Given the description of an element on the screen output the (x, y) to click on. 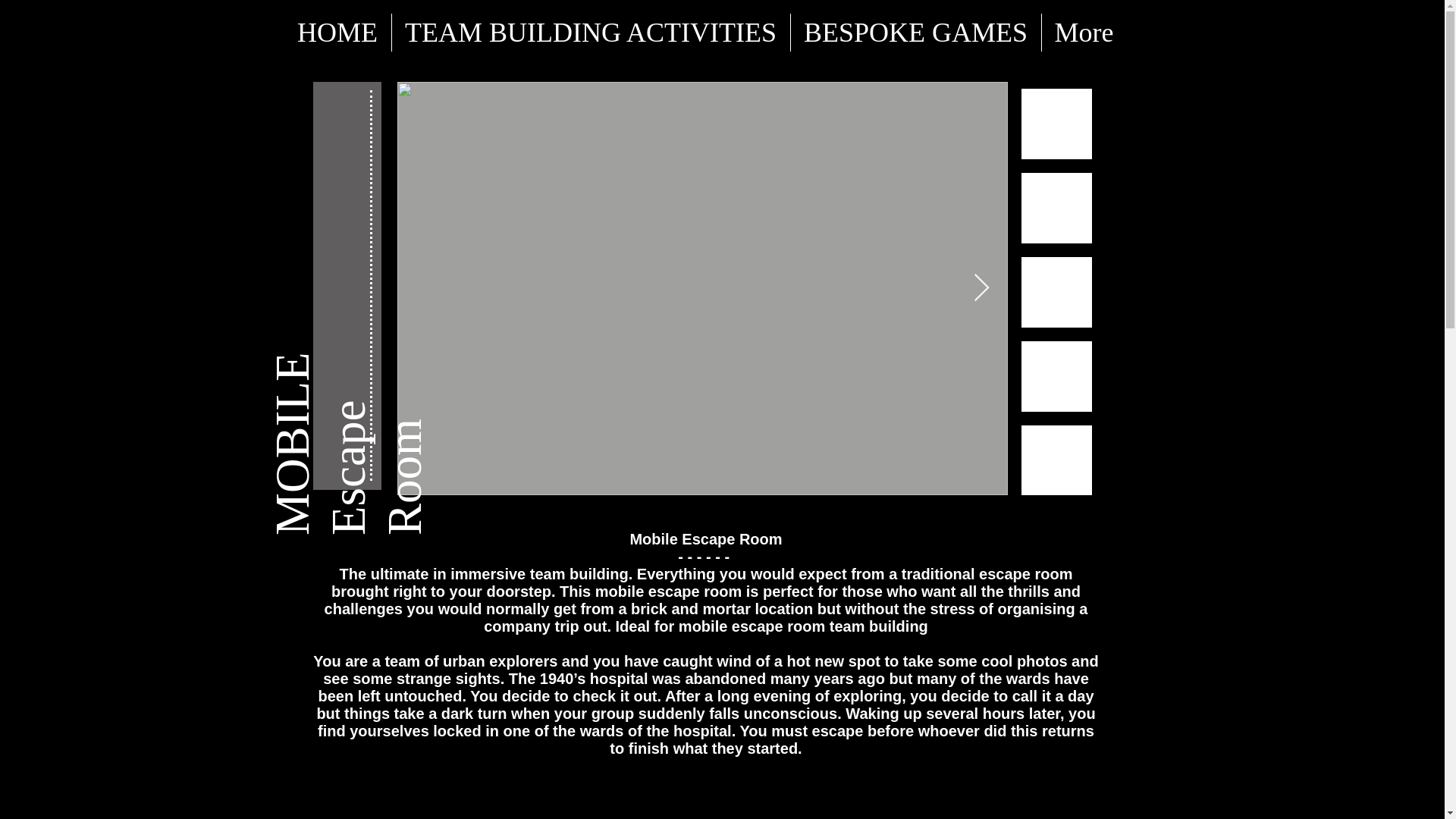
HOME (336, 32)
scape room team building (833, 626)
Mobile Escape Room (704, 538)
mobile escape room (668, 591)
team building (578, 573)
TEAM BUILDING ACTIVITIES (590, 32)
BESPOKE GAMES (915, 32)
